Given the description of an element on the screen output the (x, y) to click on. 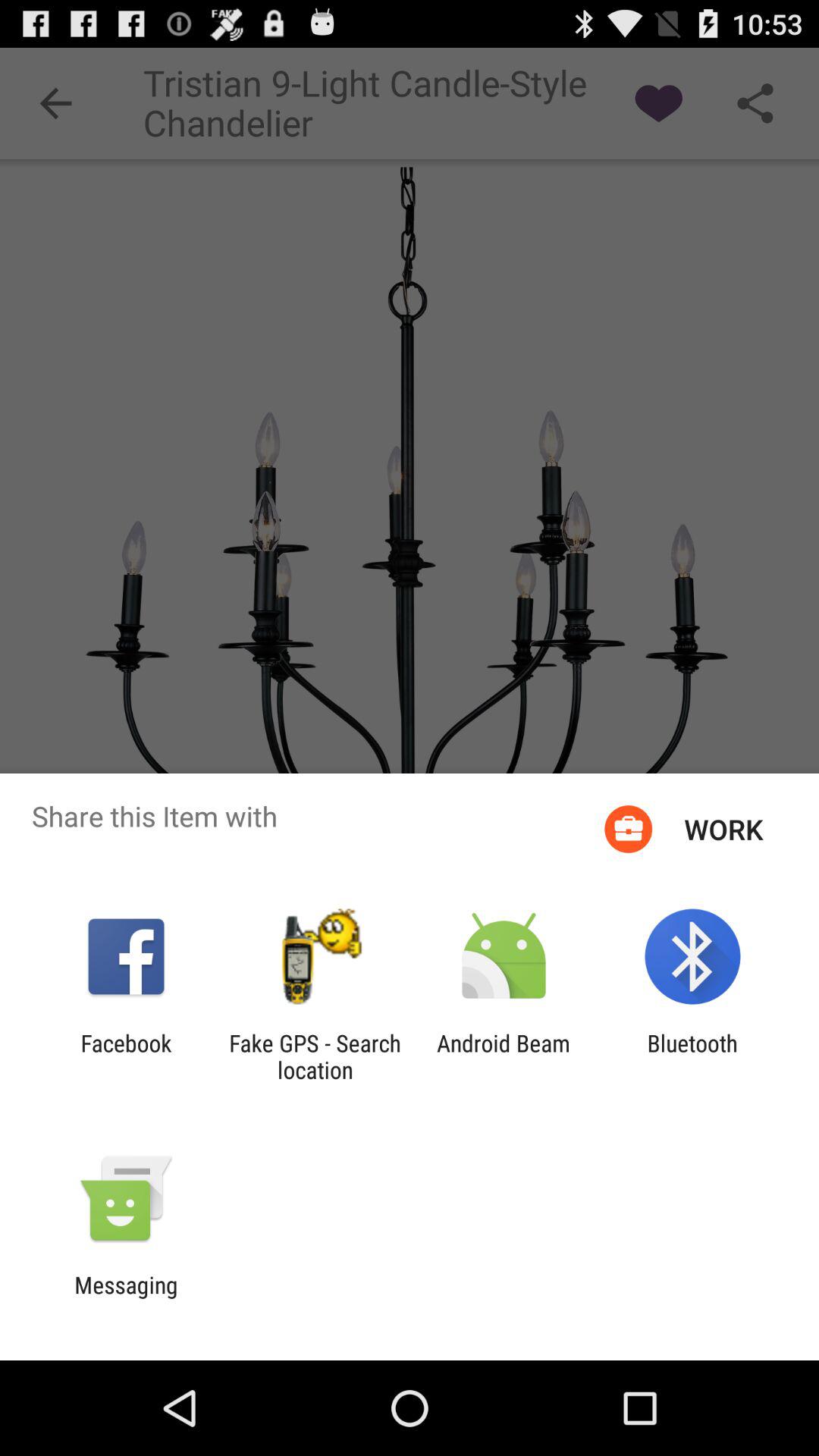
turn on the item next to the android beam (692, 1056)
